Given the description of an element on the screen output the (x, y) to click on. 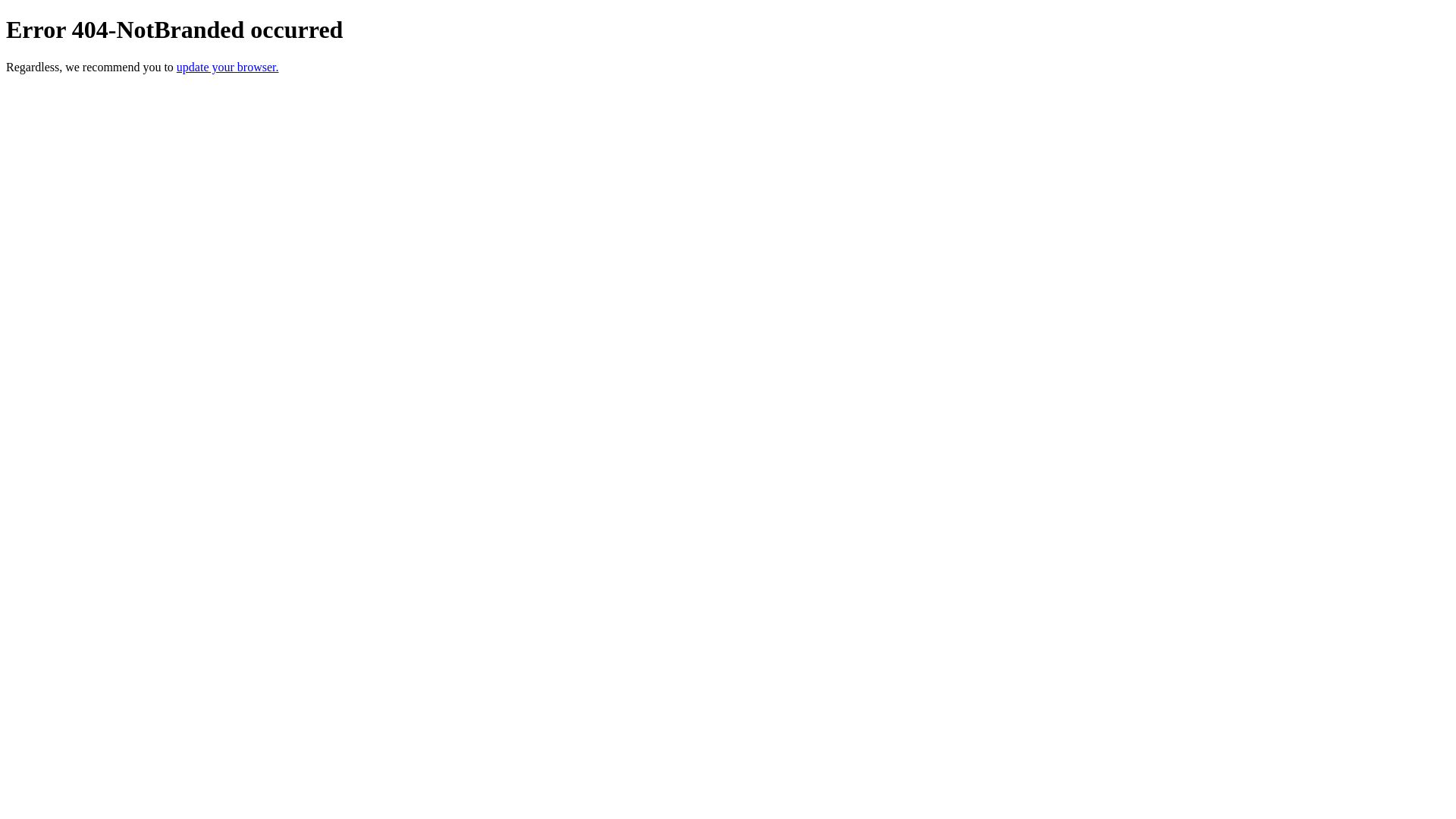
update your browser. Element type: text (227, 66)
